Given the description of an element on the screen output the (x, y) to click on. 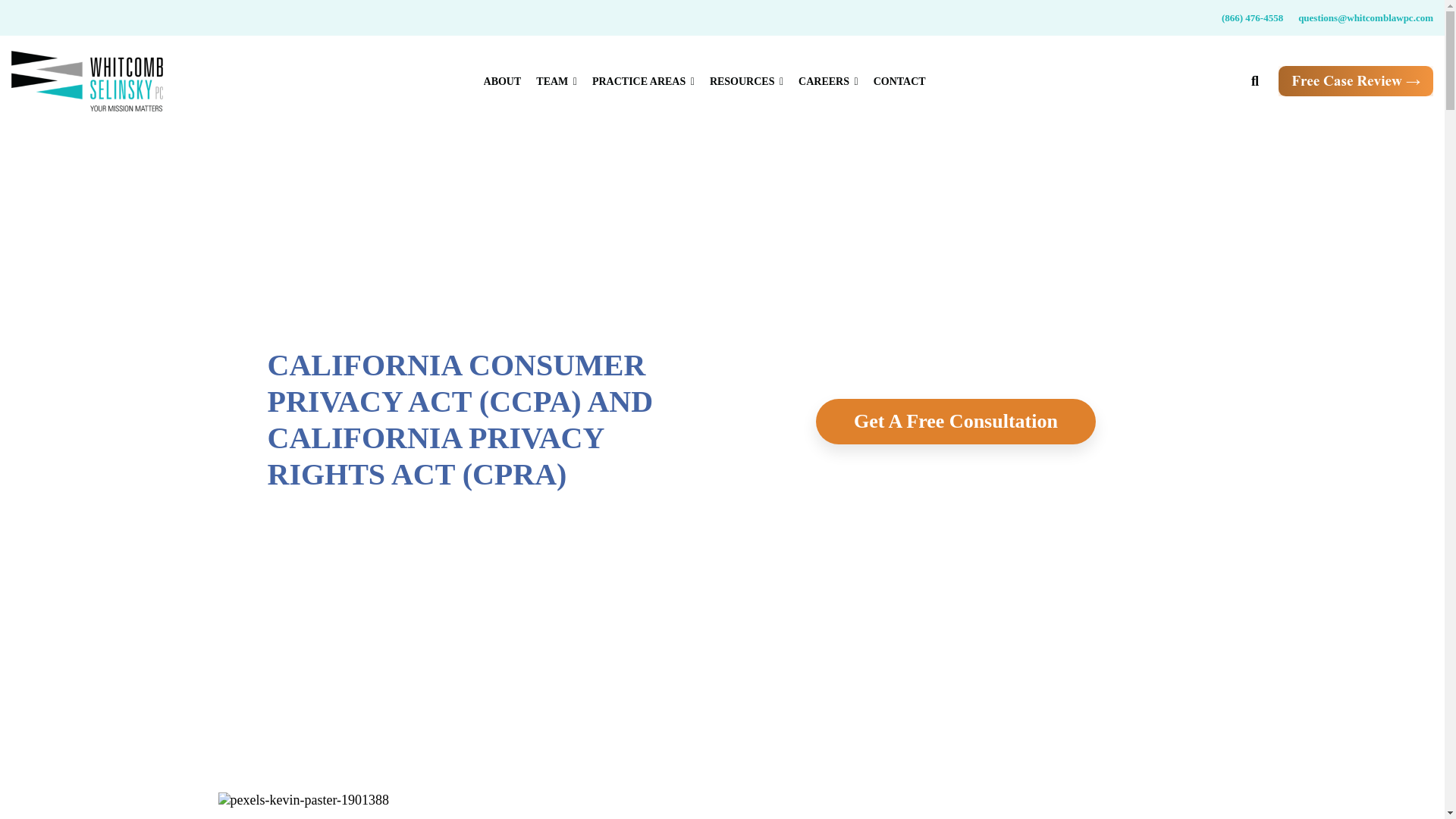
TEAM (555, 80)
ABOUT (502, 80)
